Given the description of an element on the screen output the (x, y) to click on. 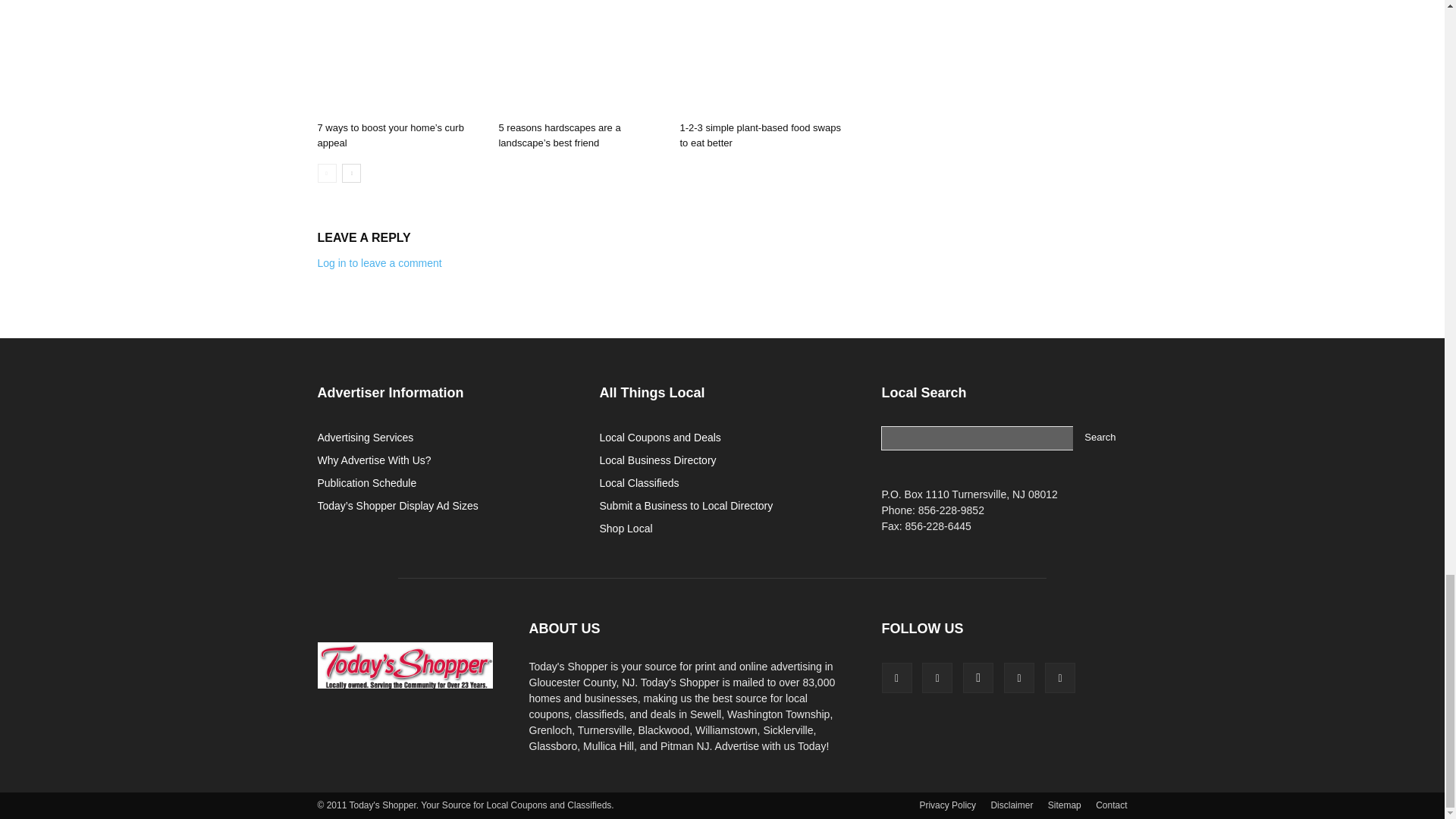
Search (1099, 437)
